Given the description of an element on the screen output the (x, y) to click on. 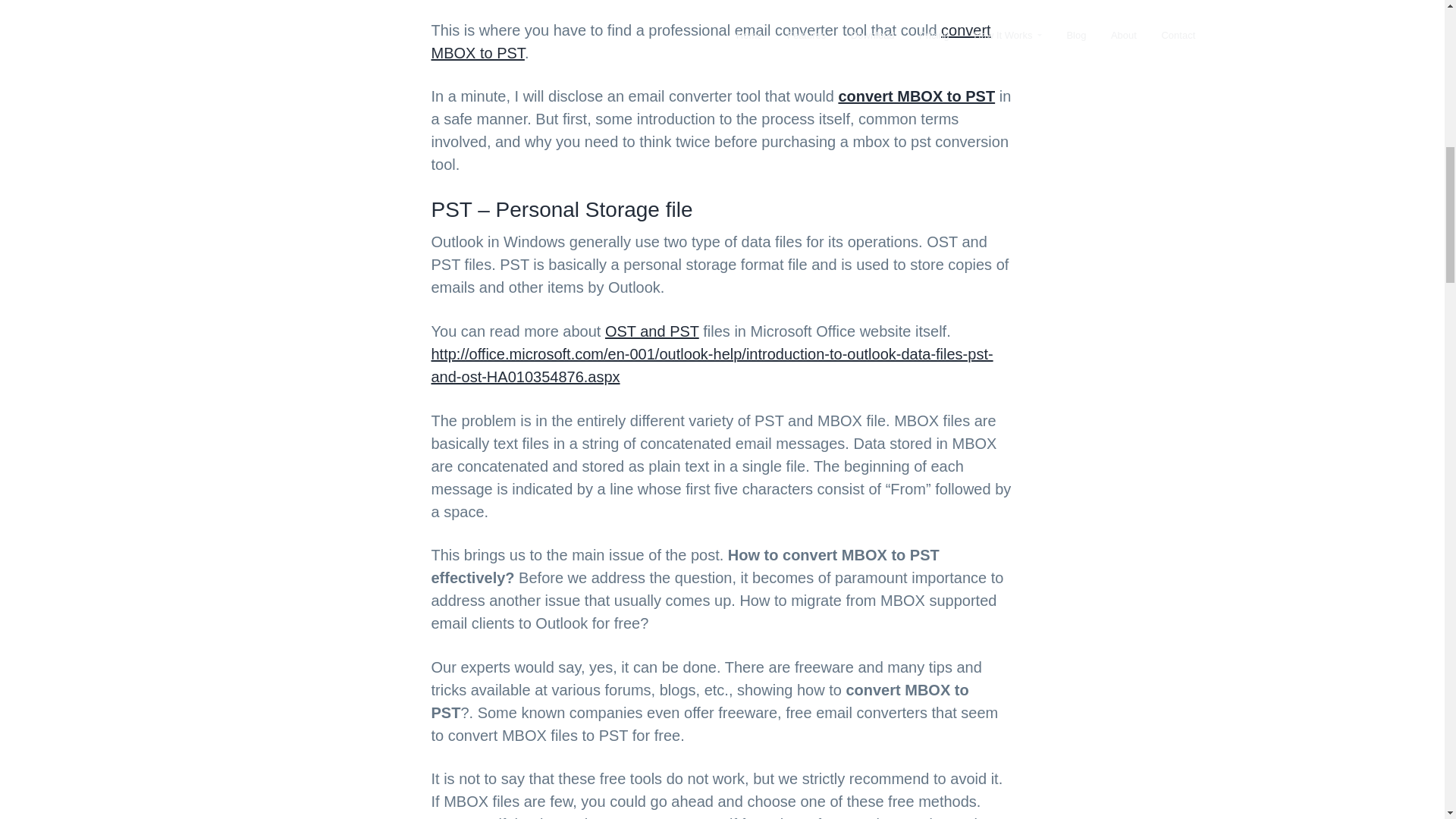
convert MBOX to PST (710, 41)
OST and PST (651, 330)
convert MBOX to PST (916, 95)
